Given the description of an element on the screen output the (x, y) to click on. 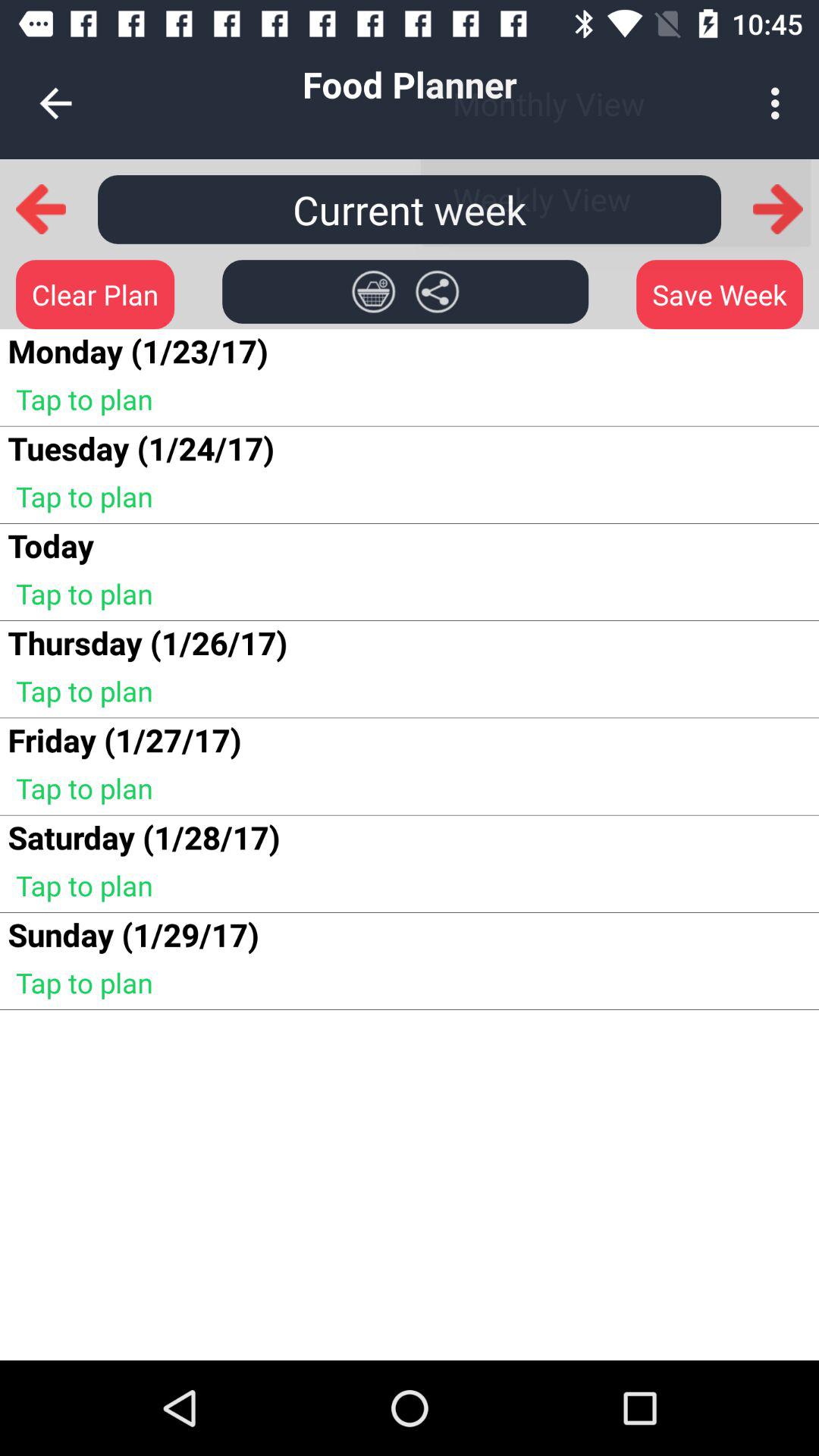
turn on item below the current week item (437, 291)
